Given the description of an element on the screen output the (x, y) to click on. 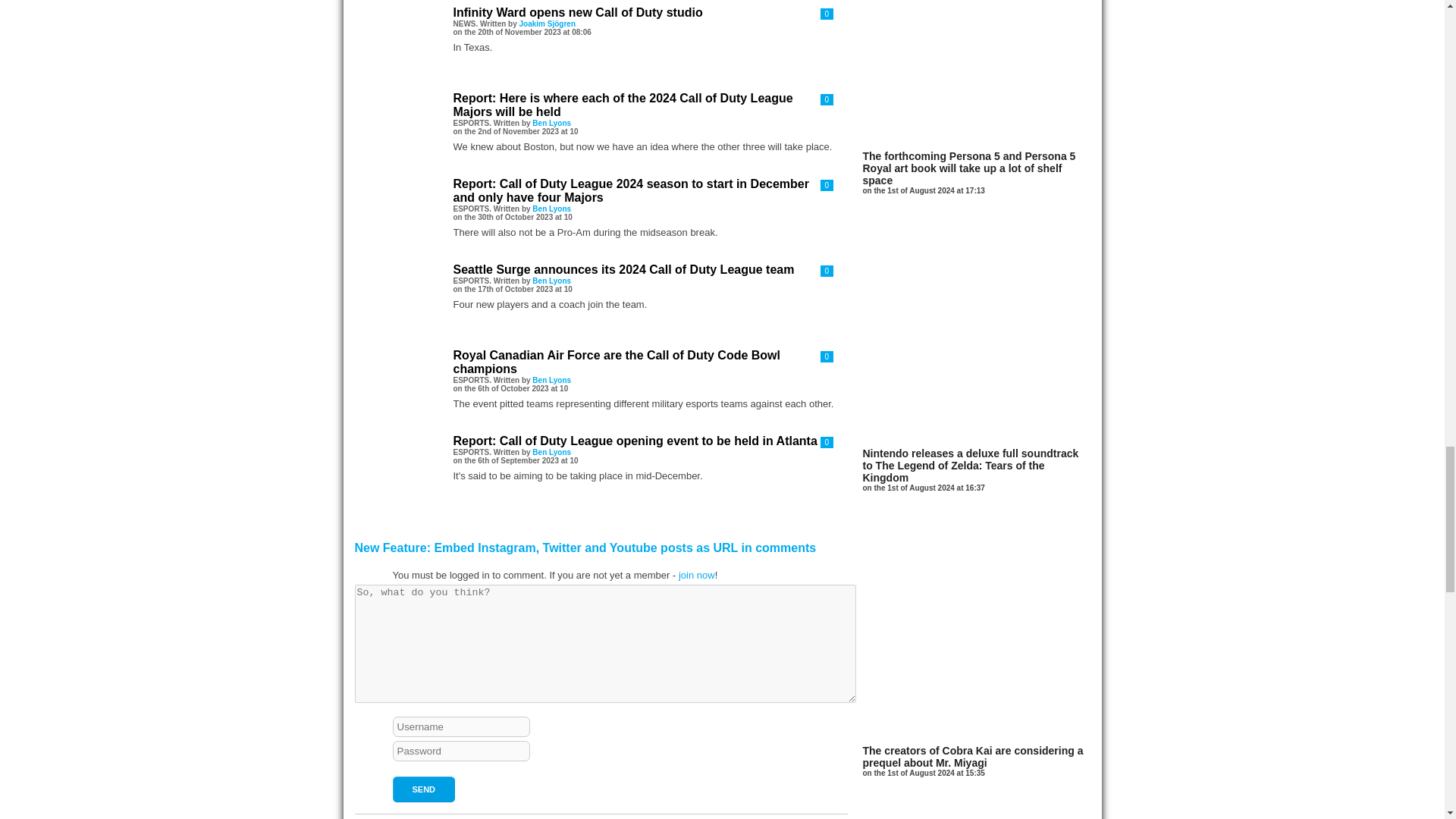
Send (424, 789)
